Given the description of an element on the screen output the (x, y) to click on. 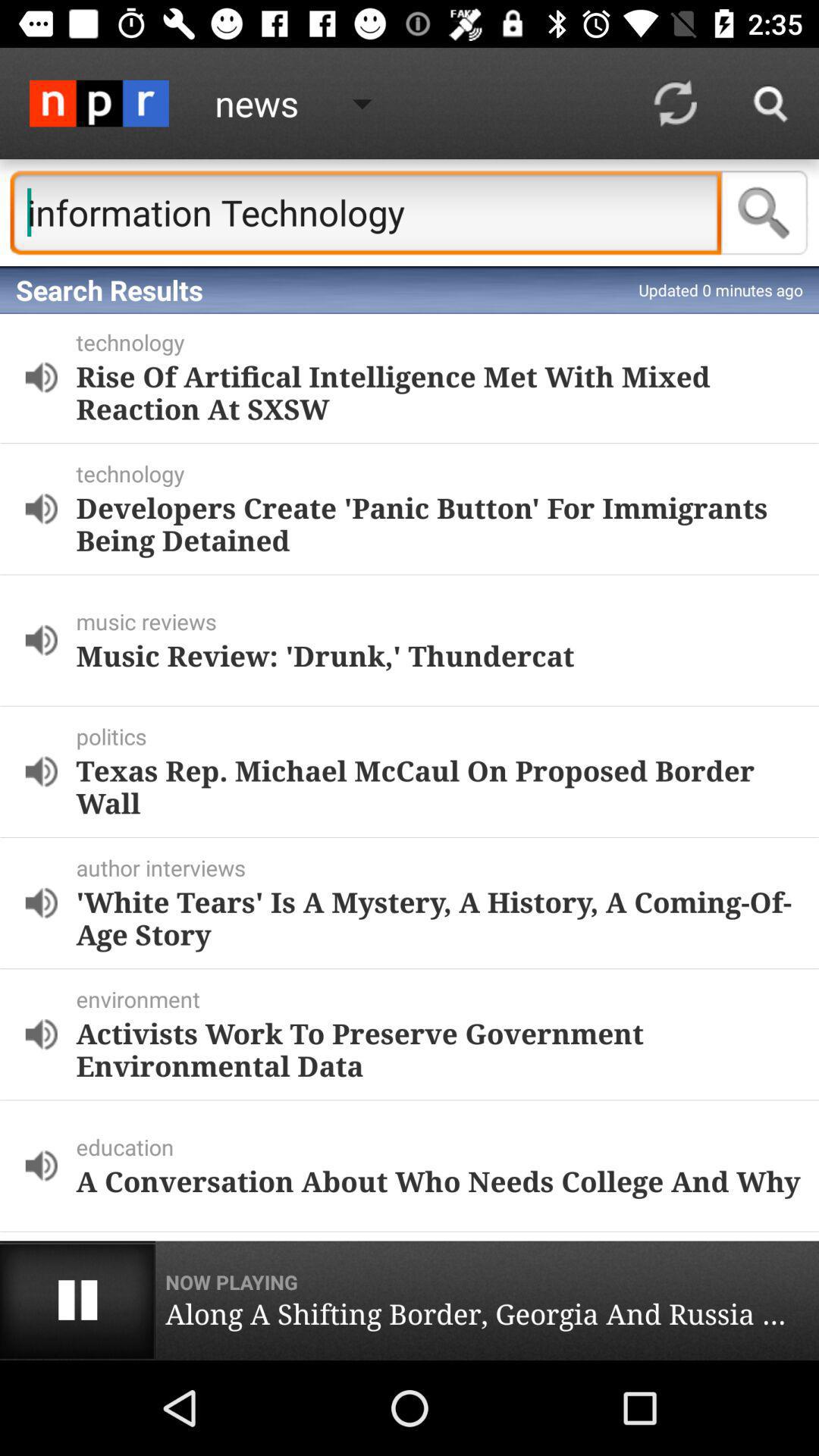
select author interviews item (444, 867)
